Given the description of an element on the screen output the (x, y) to click on. 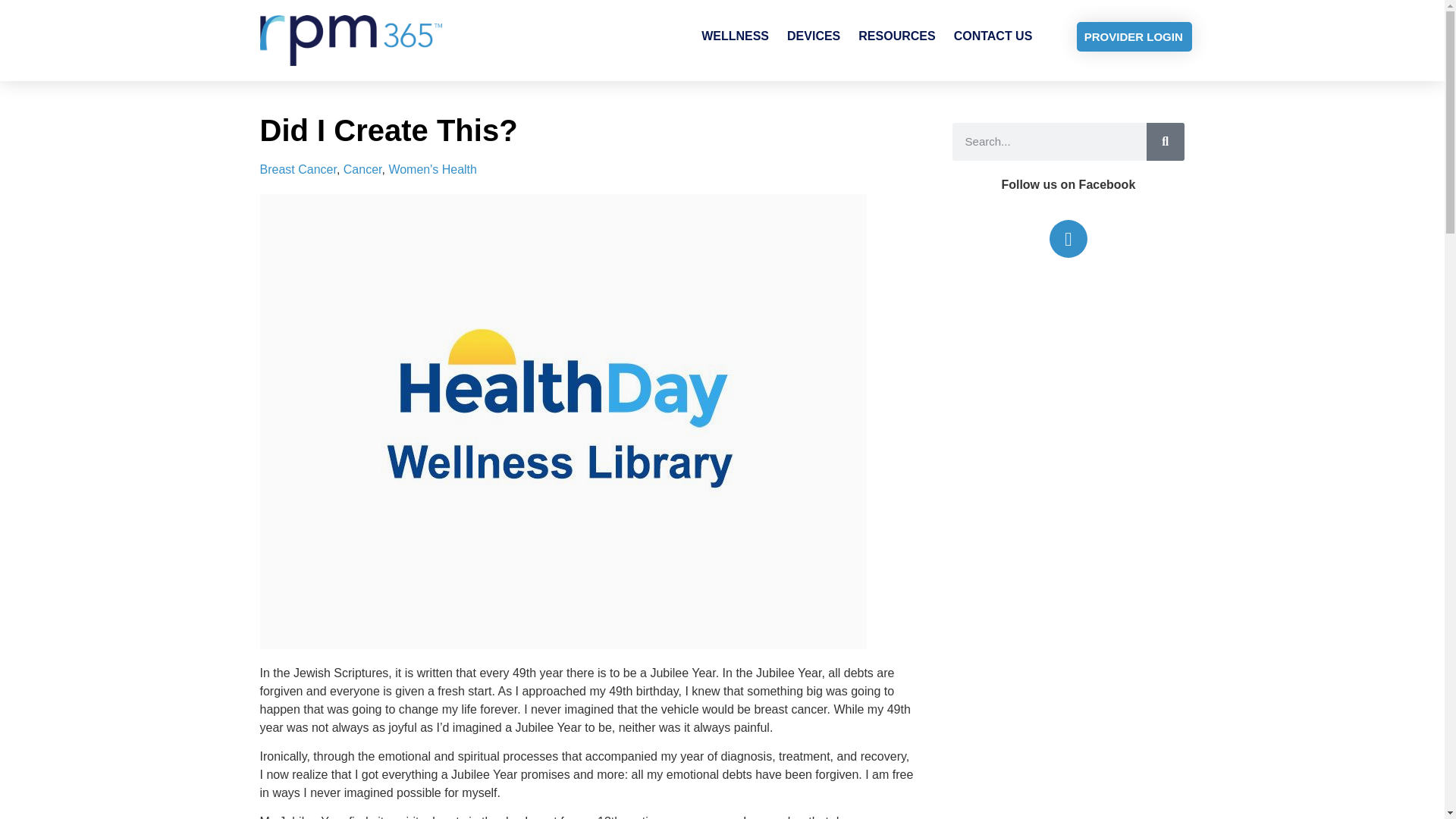
RESOURCES (895, 36)
DEVICES (812, 36)
PROVIDER LOGIN (1134, 36)
WELLNESS (735, 36)
CONTACT US (993, 36)
Cancer (362, 169)
Women's Health (432, 169)
Breast Cancer (297, 169)
